Given the description of an element on the screen output the (x, y) to click on. 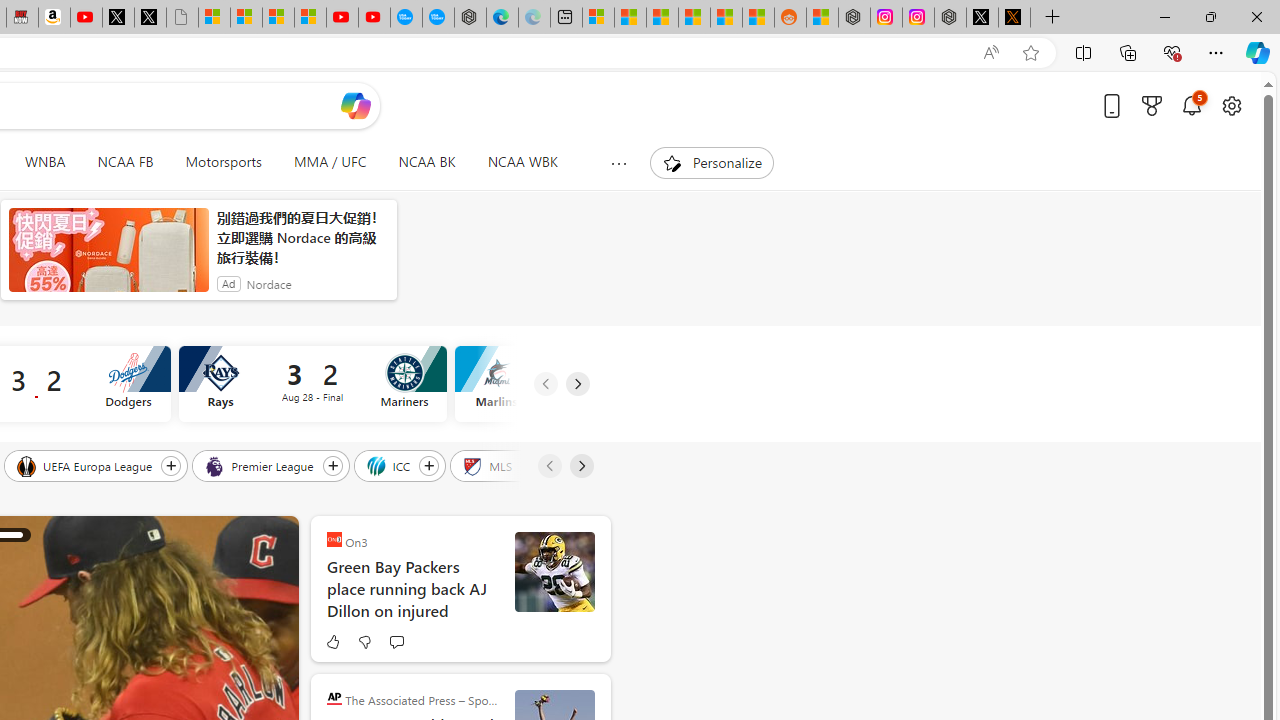
Marlins 9 vs Rockies 8Final Date Aug 28 (588, 383)
WNBA (45, 162)
Untitled (182, 17)
MMA / UFC (330, 162)
Nordace (@NordaceOfficial) / X (982, 17)
Previous (548, 465)
Follow Premier League (332, 465)
